Given the description of an element on the screen output the (x, y) to click on. 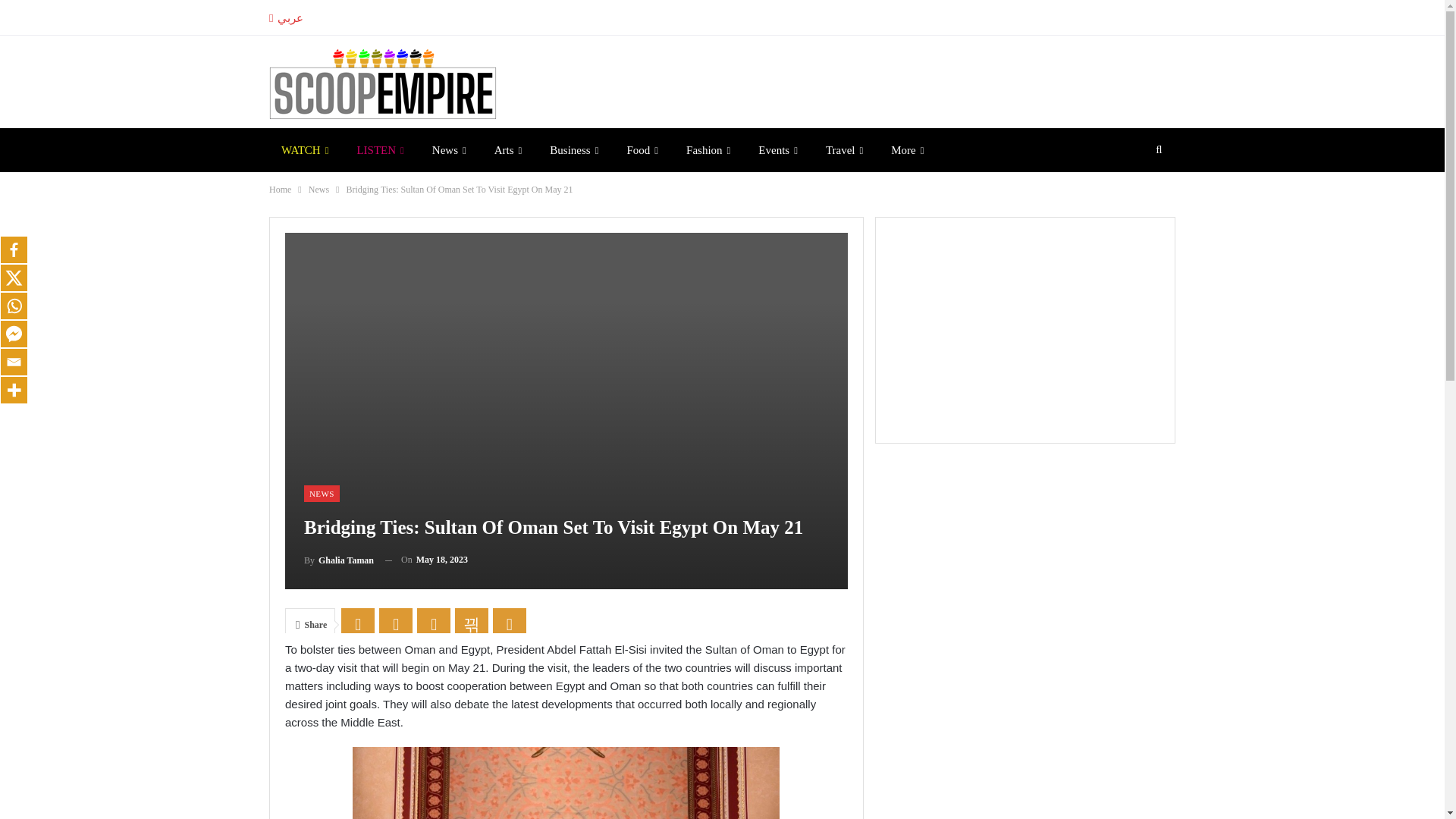
News (449, 149)
LISTEN (378, 149)
WATCH (304, 149)
Arts (507, 149)
Business (573, 149)
